Given the description of an element on the screen output the (x, y) to click on. 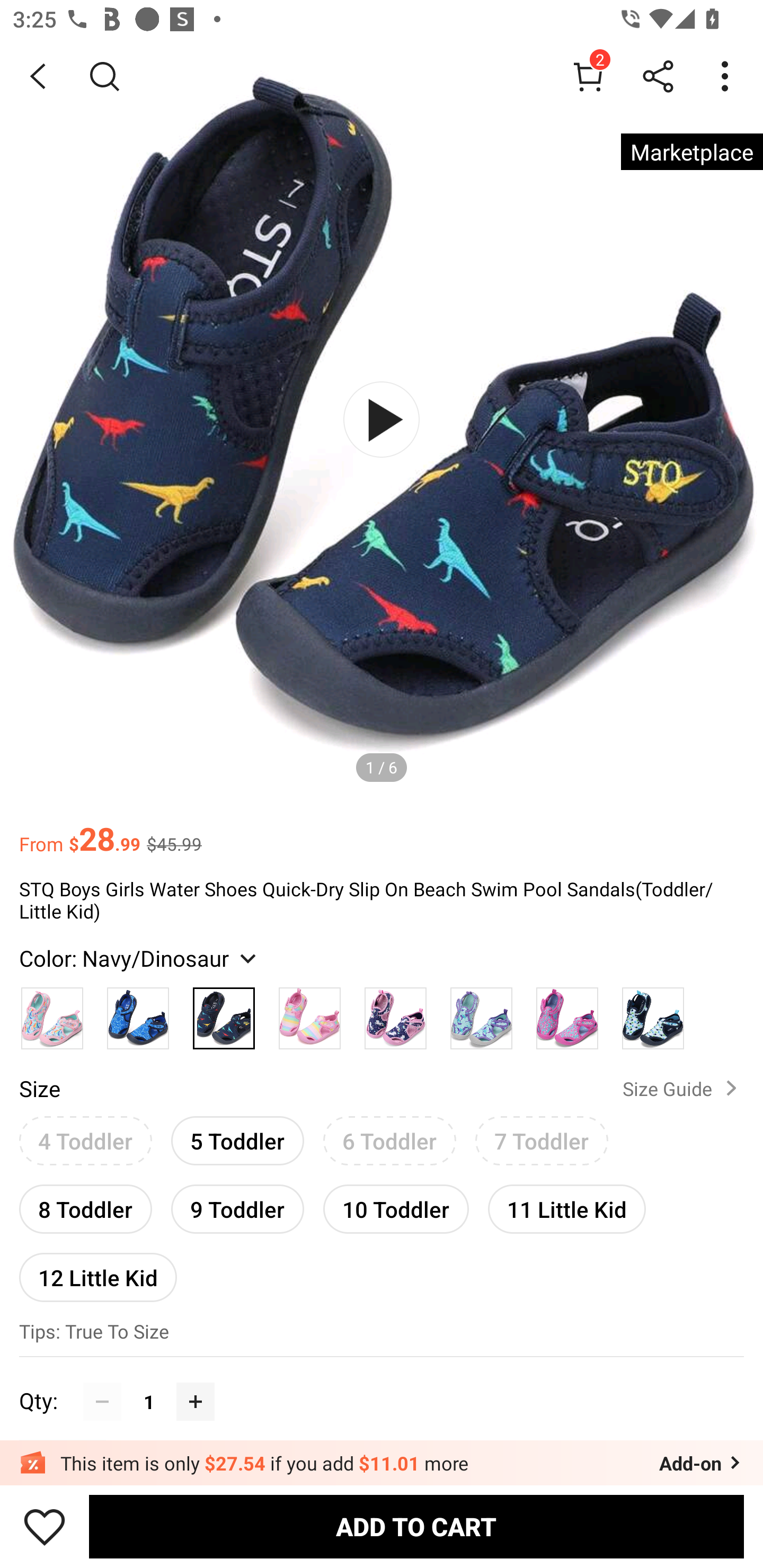
PHOTOS Marketplace 1 / 6 (381, 419)
BACK (38, 75)
2 (588, 75)
1 / 6 (381, 766)
From  $28.99 $45.99 (381, 830)
Color: Navy/Dinosaur (139, 957)
Pink /Sailing Boat (52, 1013)
Royal Blue/Shark (138, 1013)
Navy/Dinosaur (224, 1013)
Pink/Rainbow (309, 1013)
Purple (395, 1013)
Light Blue/Dolphin (481, 1013)
Rose /Dolphin (567, 1013)
Light Blue/Whale (652, 1013)
Size (39, 1087)
Size Guide (682, 1087)
4 Toddler (85, 1140)
5 Toddler 5 Toddlerunselected option (237, 1140)
6 Toddler (389, 1140)
7 Toddler (541, 1140)
8 Toddler 8 Toddlerunselected option (85, 1208)
9 Toddler 9 Toddlerunselected option (237, 1208)
10 Toddler 10 Toddlerunselected option (396, 1208)
11 Little Kid 11 Little Kidunselected option (567, 1208)
12 Little Kid 12 Little Kidunselected option (98, 1276)
Tips: True To Size (381, 1332)
Qty: 1 (381, 1381)
Add-on (701, 1462)
ADD TO CART (416, 1526)
Save (44, 1526)
